Given the description of an element on the screen output the (x, y) to click on. 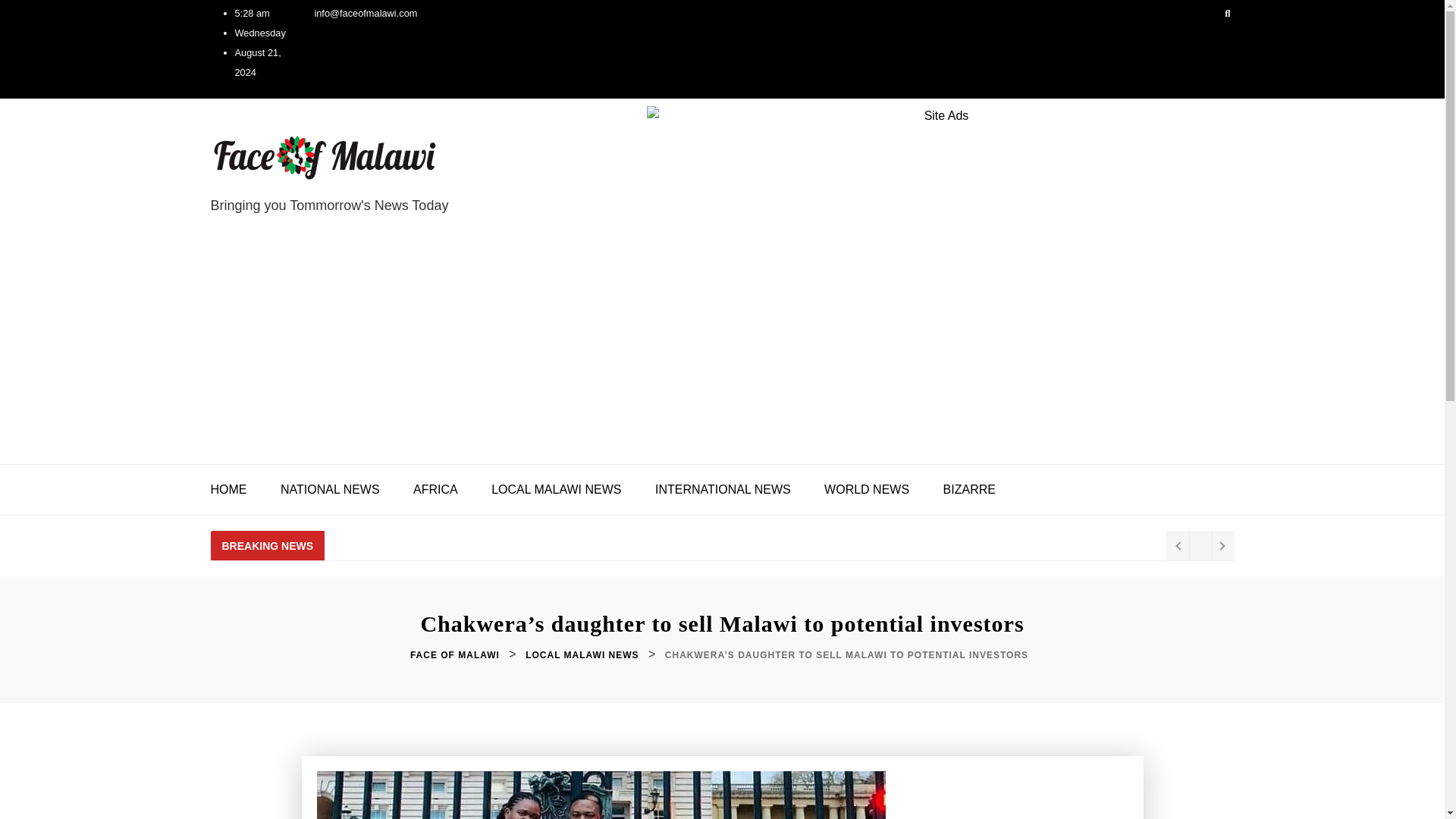
LOCAL MALAWI NEWS (583, 655)
HOME (236, 490)
LOCAL MALAWI NEWS (556, 490)
INTERNATIONAL NEWS (723, 490)
BIZARRE (969, 490)
Go to Face of Malawi. (456, 655)
AFRICA (435, 490)
Go to the Local Malawi News Category archives. (583, 655)
WORLD NEWS (866, 490)
